Given the description of an element on the screen output the (x, y) to click on. 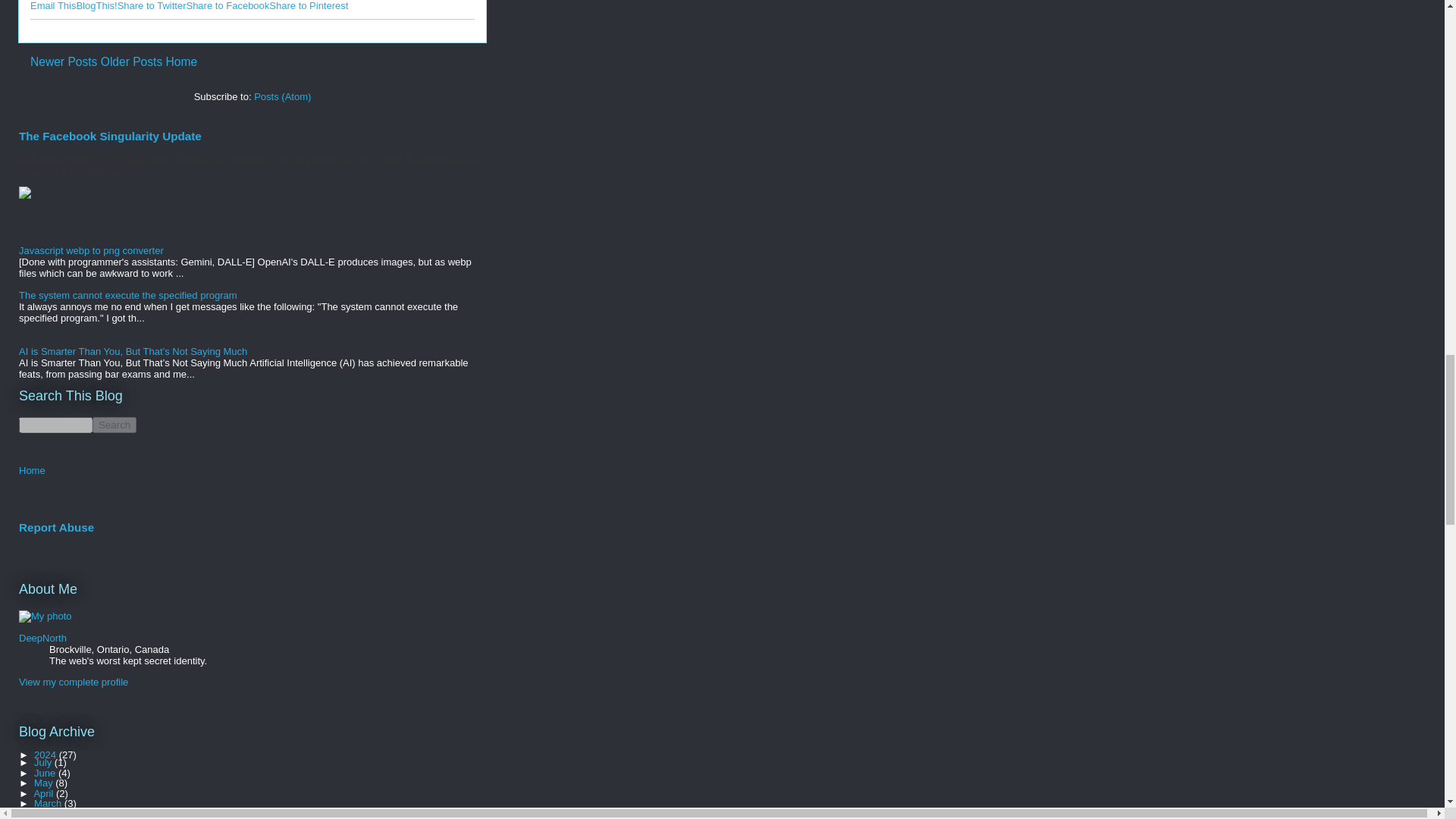
Javascript webp to png converter (90, 250)
Newer Posts (63, 61)
search (114, 424)
Share to Pinterest (308, 5)
June (45, 772)
March (48, 803)
Report Abuse (56, 526)
Share to Facebook (227, 5)
BlogThis! (95, 5)
Home (181, 61)
search (55, 424)
Search (114, 424)
Newer Posts (63, 61)
The Facebook Singularity Update (110, 135)
Home (31, 470)
